Given the description of an element on the screen output the (x, y) to click on. 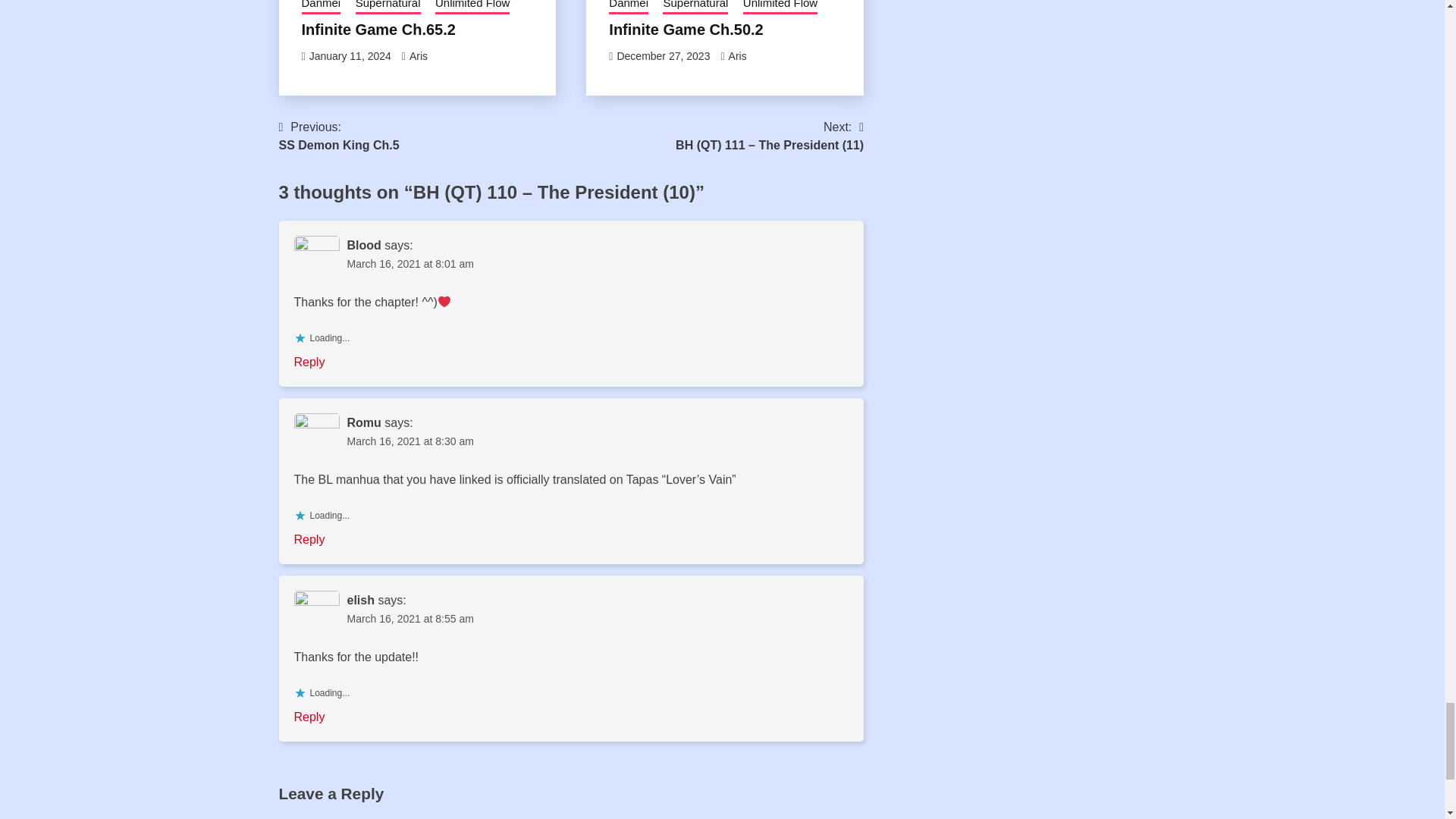
Infinite Game Ch.65.2 (378, 29)
Danmei (320, 7)
Supernatural (387, 7)
Unlimited Flow (472, 7)
January 11, 2024 (349, 55)
